Given the description of an element on the screen output the (x, y) to click on. 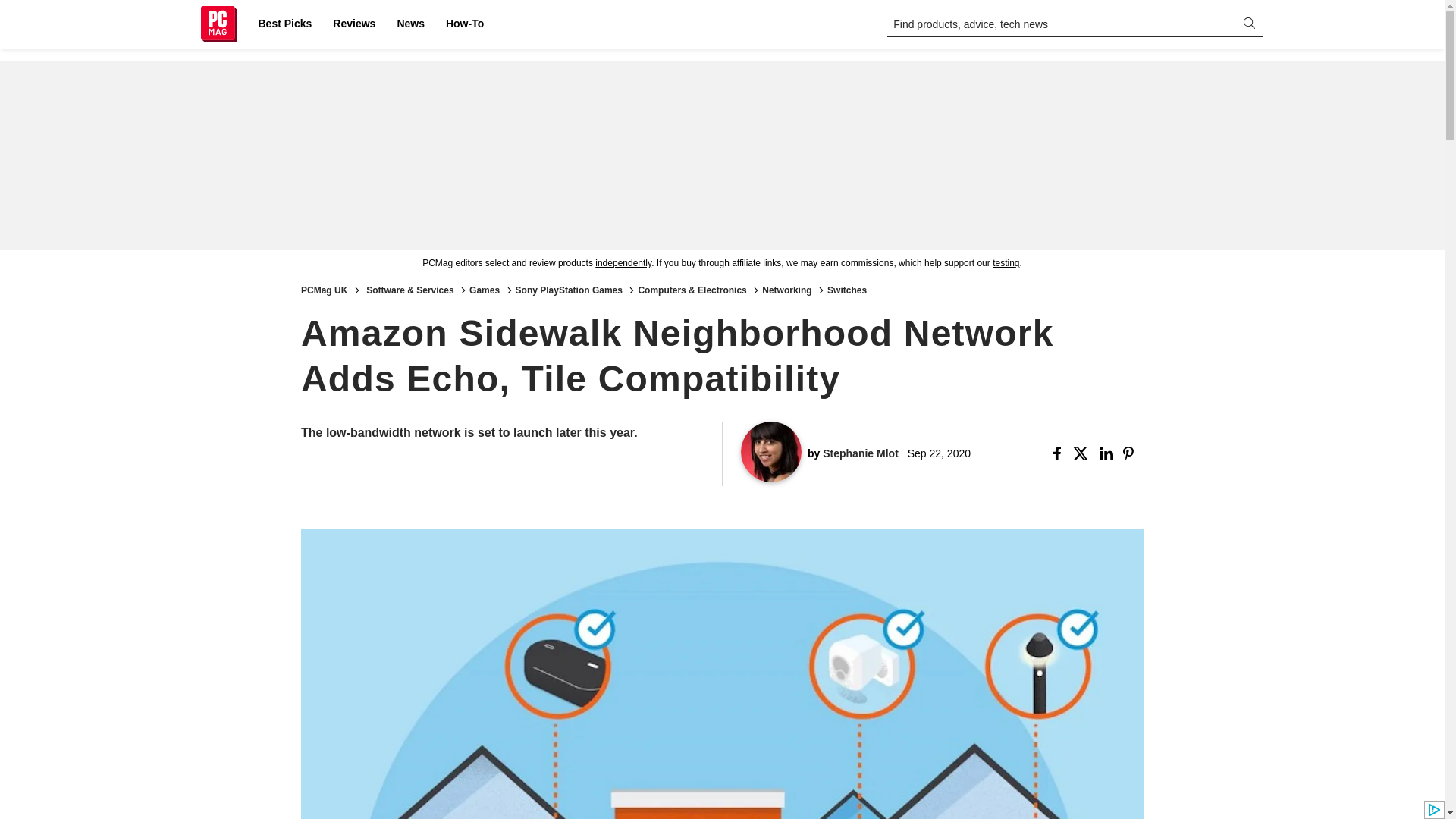
Best Picks (284, 24)
Share this Story on Facebook (1059, 453)
Share this Story on Linkedin (1107, 453)
Share this Story on Pinterest (1132, 453)
Share this Story on X (1083, 453)
